Given the description of an element on the screen output the (x, y) to click on. 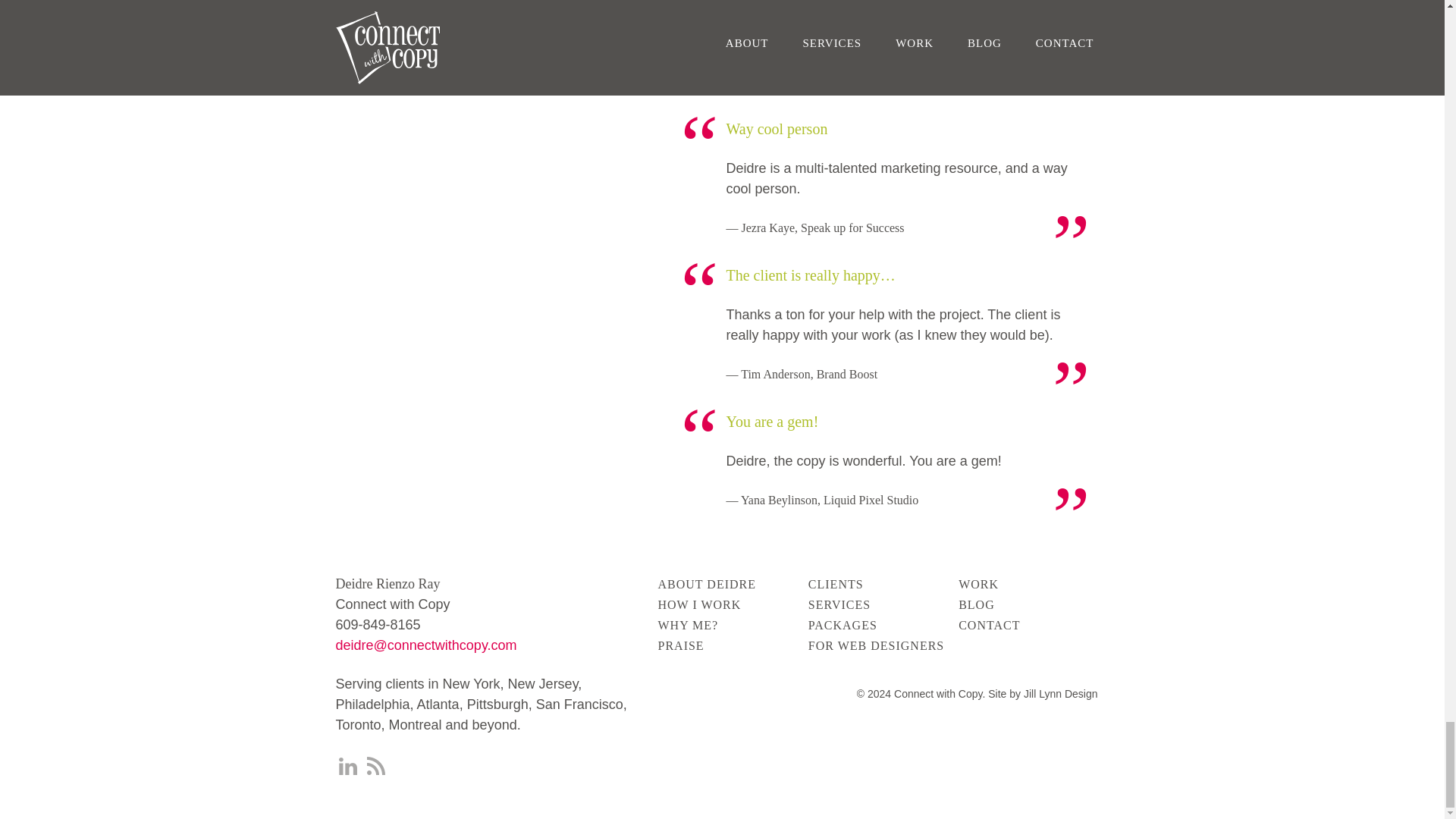
Atlanta-based web designer and developer (1042, 693)
ABOUT DEIDRE (706, 584)
HOW I WORK (699, 604)
